Given the description of an element on the screen output the (x, y) to click on. 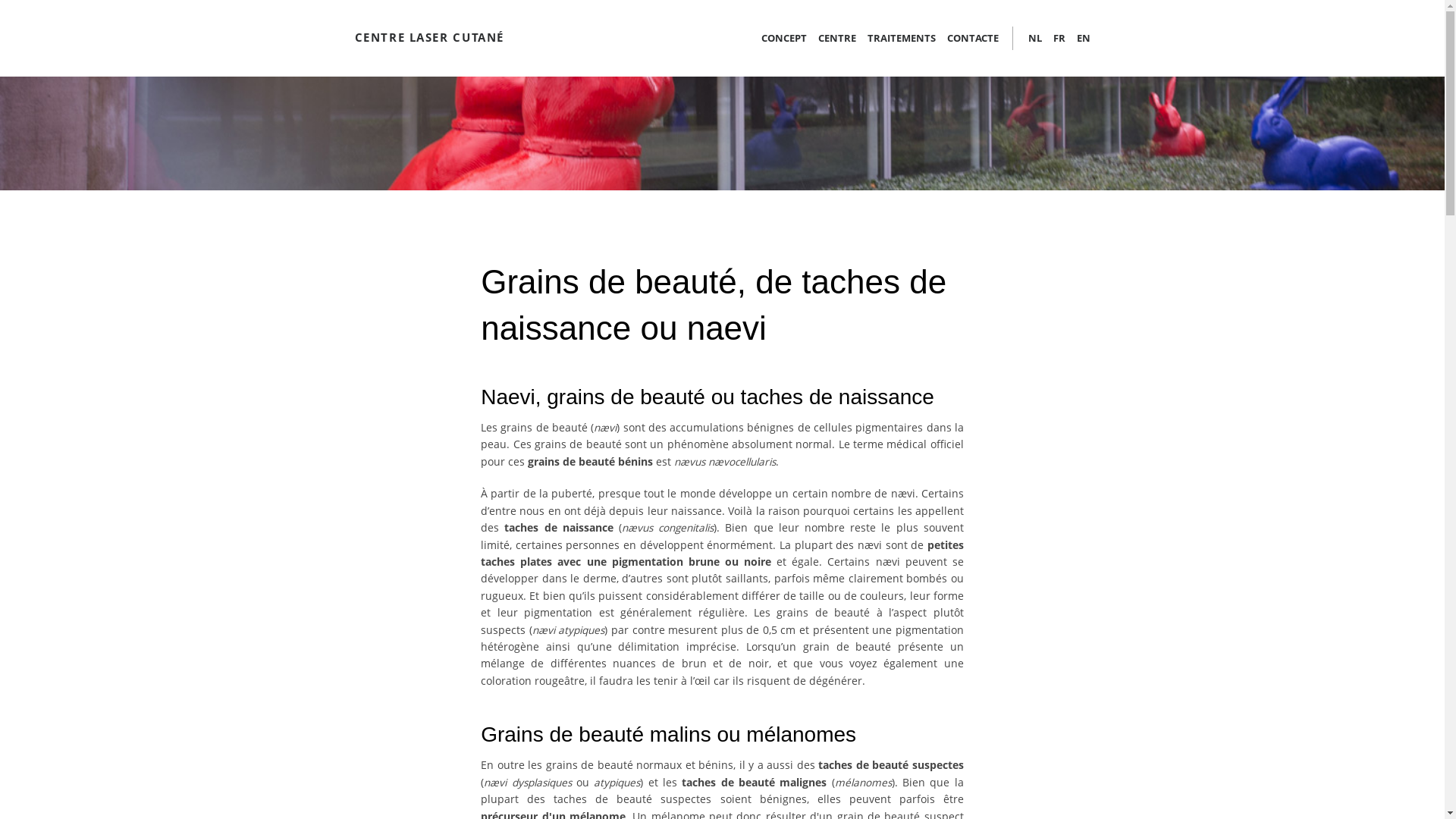
TRAITEMENTS Element type: text (895, 37)
CENTRE Element type: text (831, 37)
EN Element type: text (1076, 37)
CONTACTE Element type: text (966, 37)
FR Element type: text (1053, 37)
CONCEPT Element type: text (783, 37)
NL Element type: text (1034, 37)
